Given the description of an element on the screen output the (x, y) to click on. 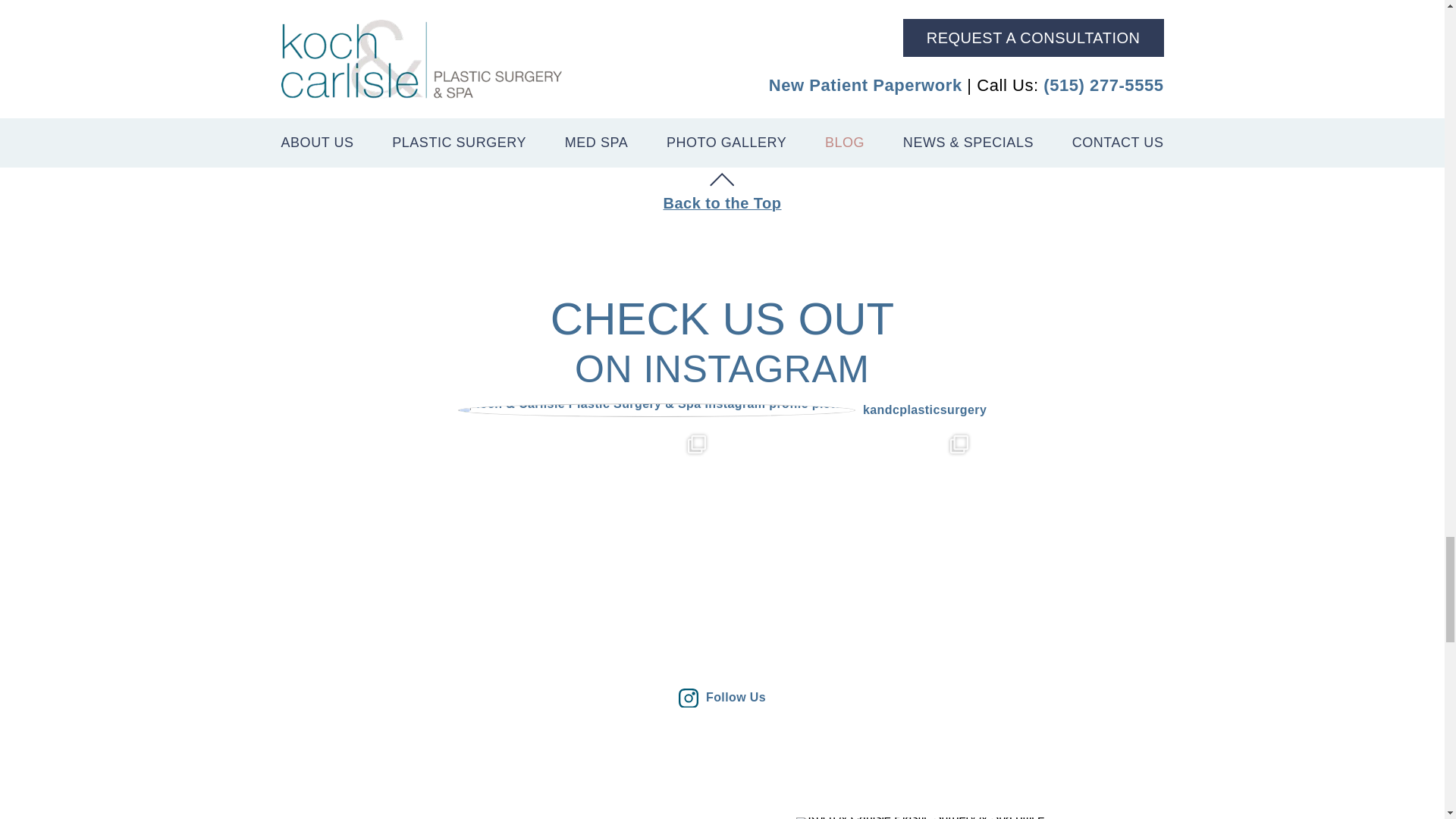
Post Comment (357, 116)
